Given the description of an element on the screen output the (x, y) to click on. 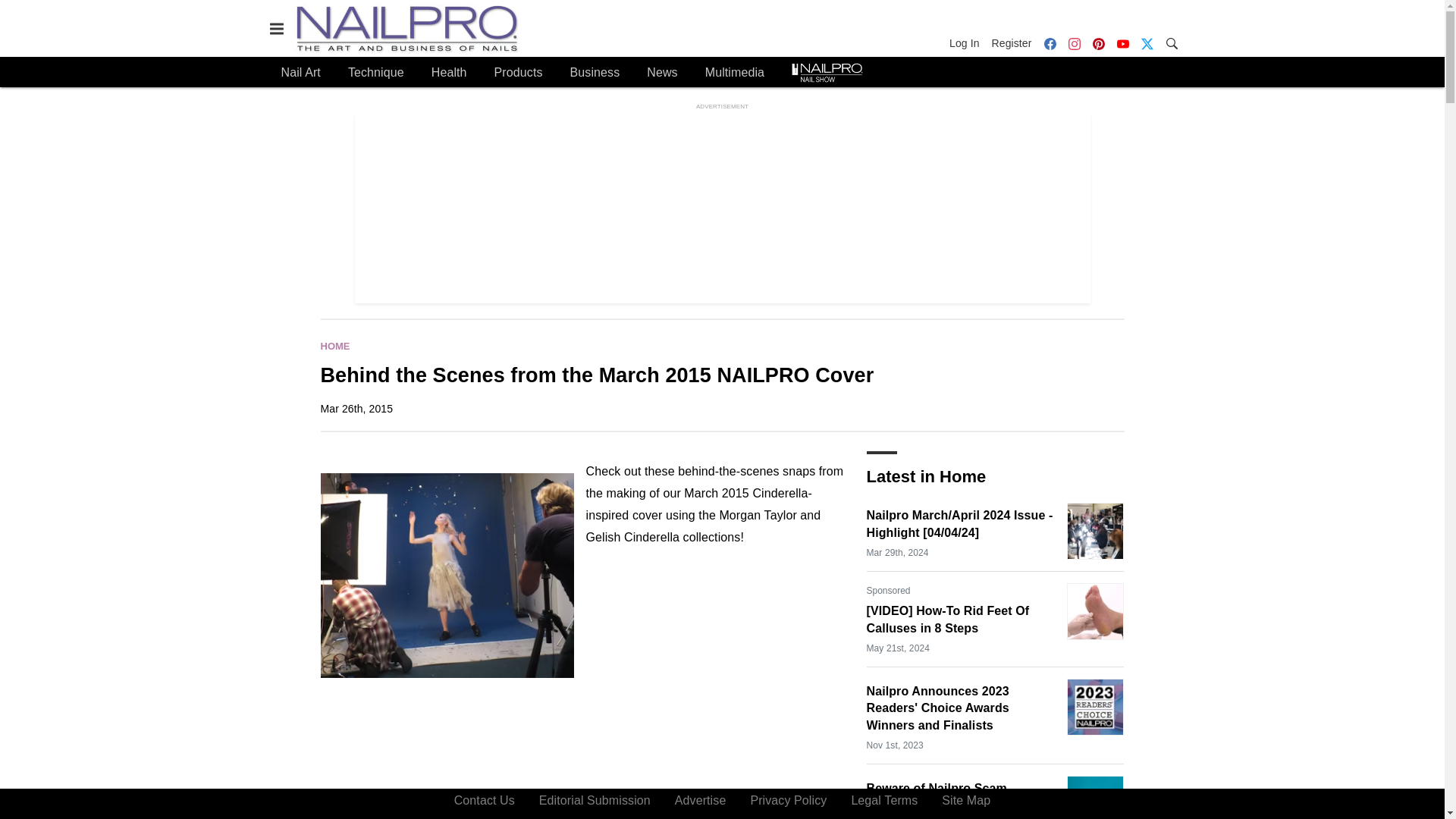
Products (519, 72)
Health (448, 72)
YouTube icon (1121, 43)
YouTube icon (1122, 43)
Twitter X icon (1146, 43)
Sponsored (888, 590)
Search (1170, 42)
Nailpro Nail Show (827, 72)
Instagram icon (1073, 43)
Facebook icon (1048, 43)
Multimedia (734, 72)
Pinterest icon (1097, 43)
News (661, 72)
Log In (967, 43)
